Given the description of an element on the screen output the (x, y) to click on. 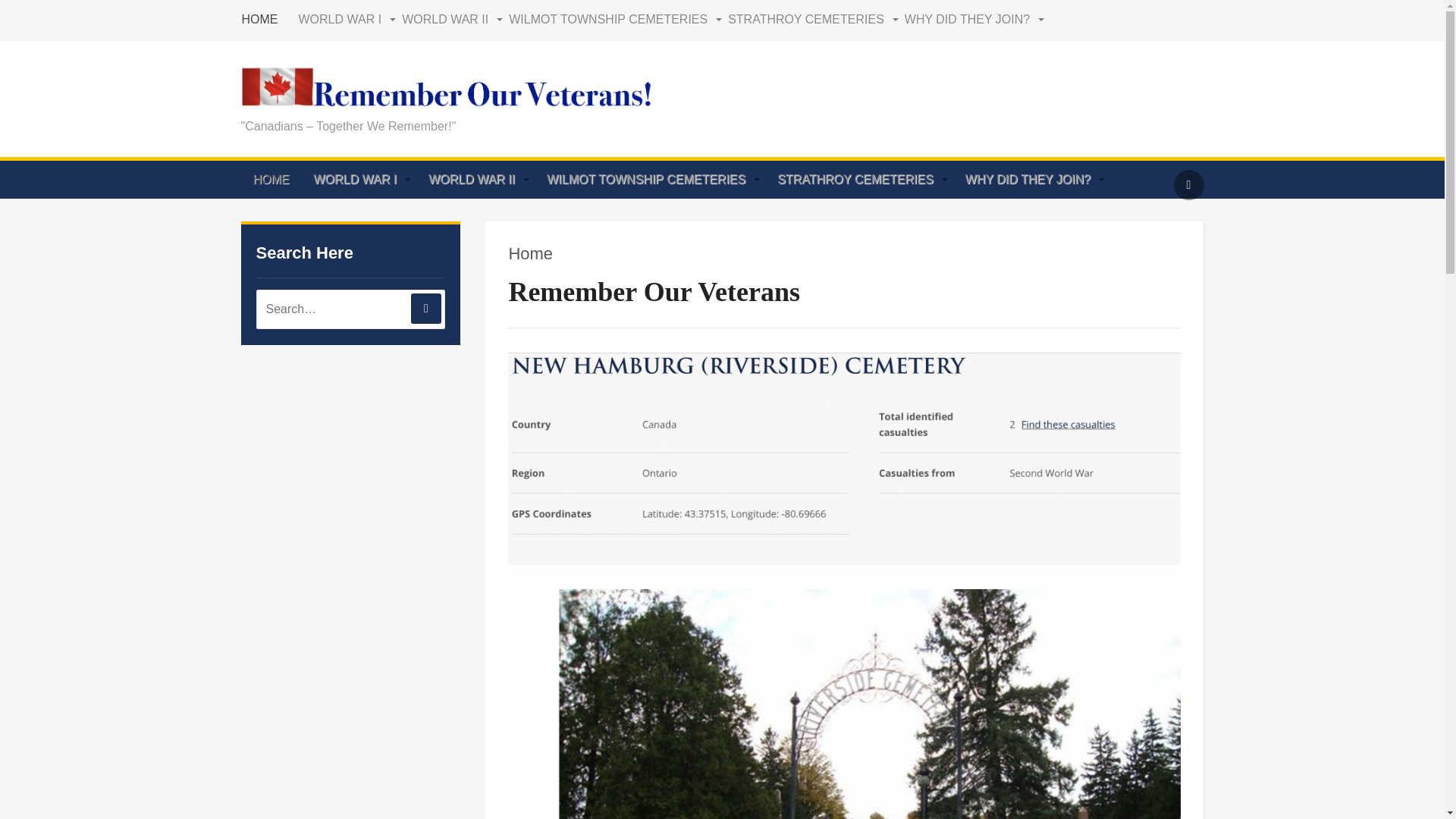
Search (425, 308)
WORLD WAR I (349, 19)
WORLD WAR II (453, 19)
HOME (269, 19)
Search (425, 308)
WHY DID THEY JOIN? (976, 19)
WILMOT TOWNSHIP CEMETERIES (617, 19)
STRATHROY CEMETERIES (815, 19)
